Given the description of an element on the screen output the (x, y) to click on. 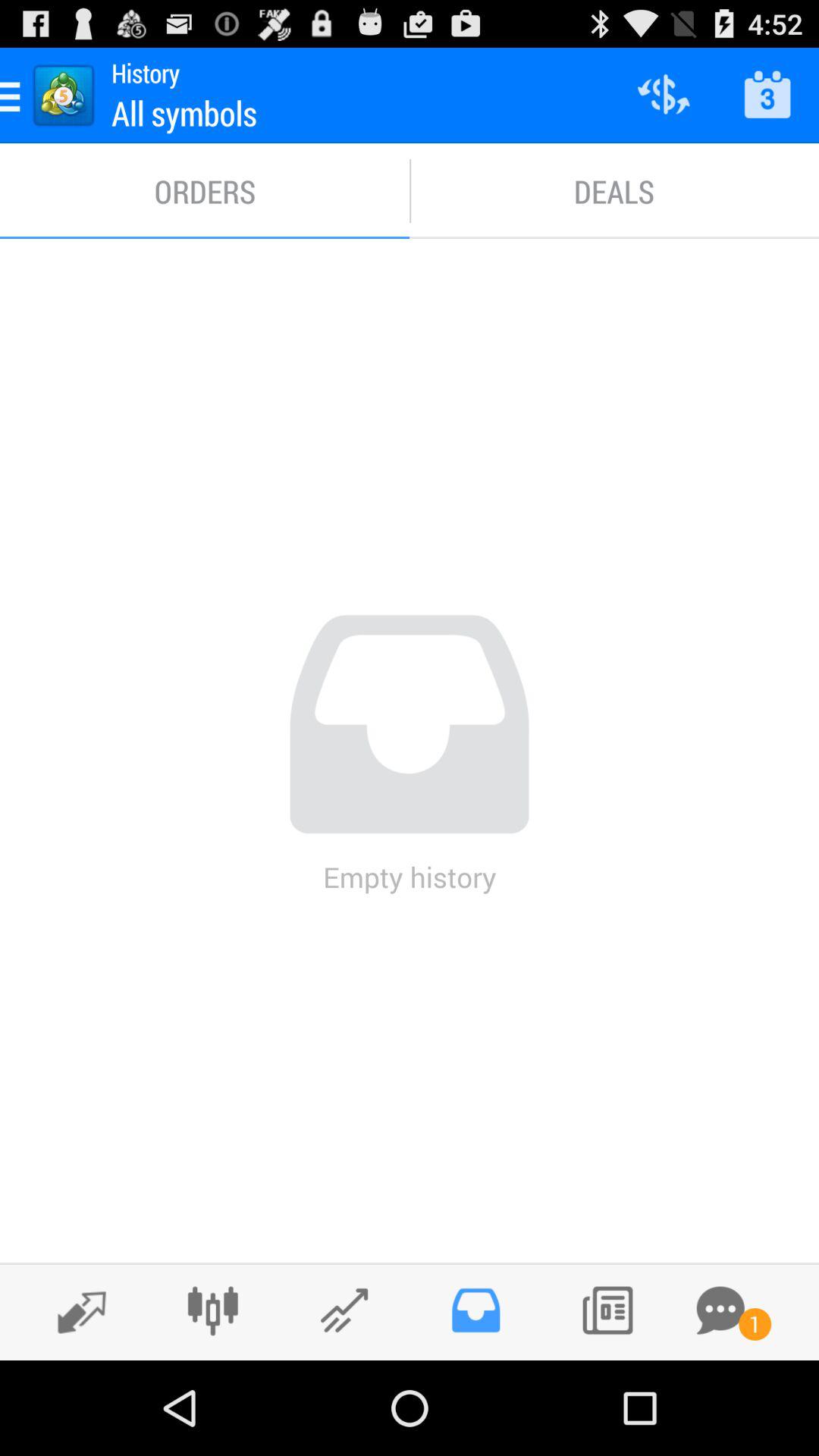
switch (73, 1311)
